Given the description of an element on the screen output the (x, y) to click on. 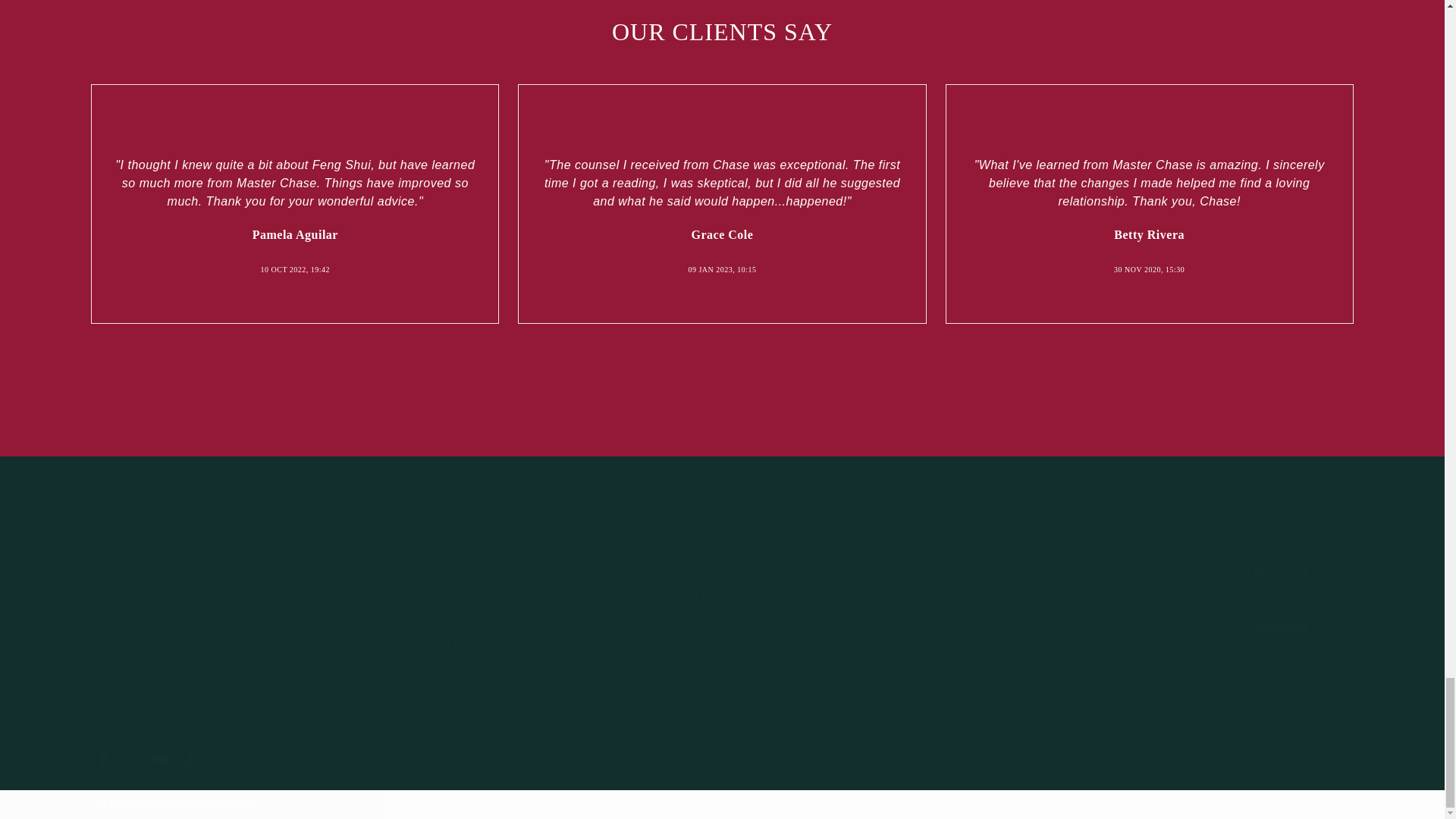
Join Our Affiliate (458, 569)
Subscribe (1282, 626)
FAQ (427, 719)
Zodiac 2024 (918, 594)
Brand Story (702, 569)
Our Feng Shui Master (729, 594)
Gemstones (915, 569)
Refund Policy (451, 619)
Warranty (439, 694)
What is My Wrist Size? (731, 619)
Sitemap (693, 644)
Privacy Policy (451, 594)
Terms of Service (459, 669)
